Given the description of an element on the screen output the (x, y) to click on. 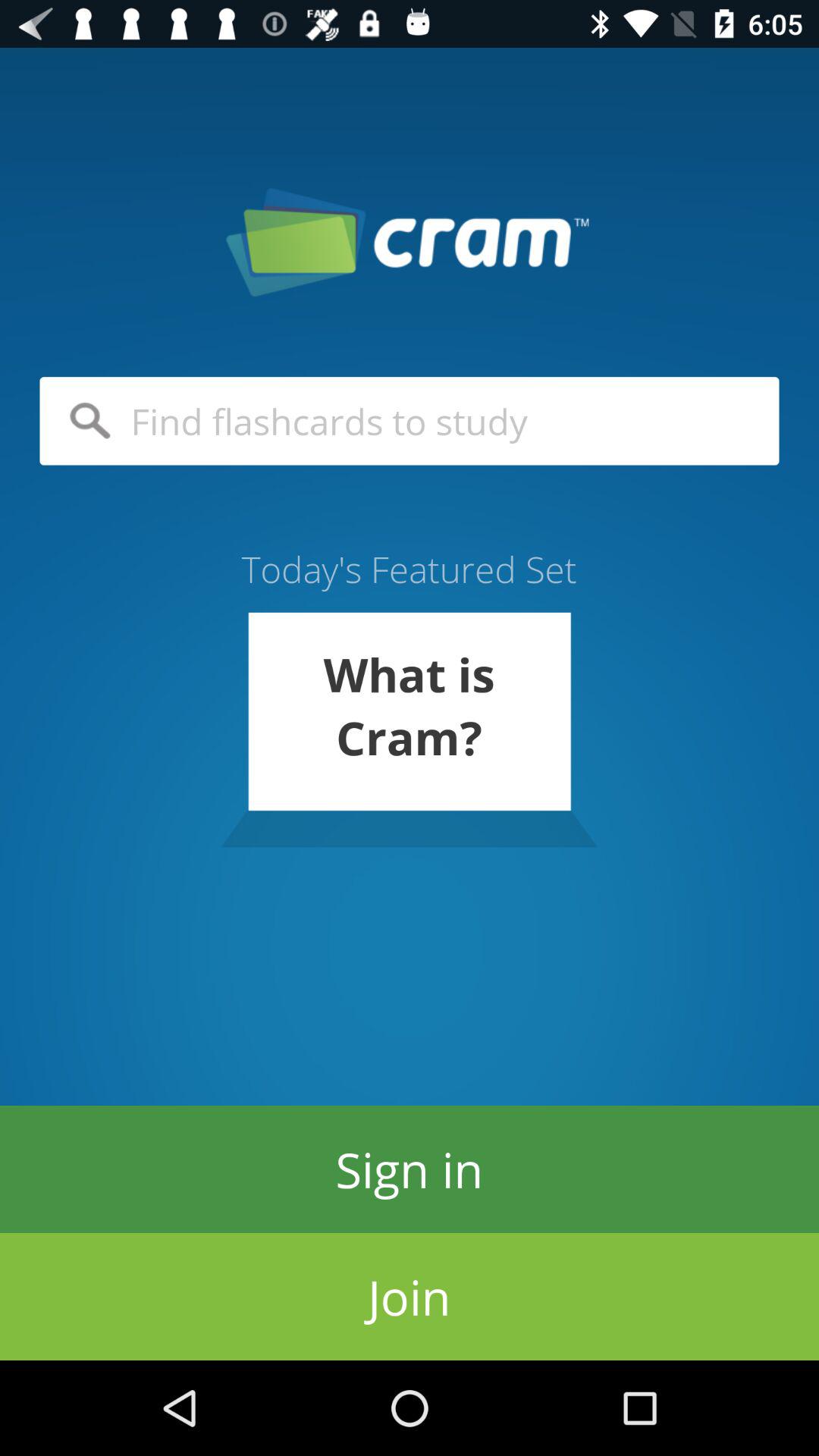
turn on item above join (409, 1169)
